Given the description of an element on the screen output the (x, y) to click on. 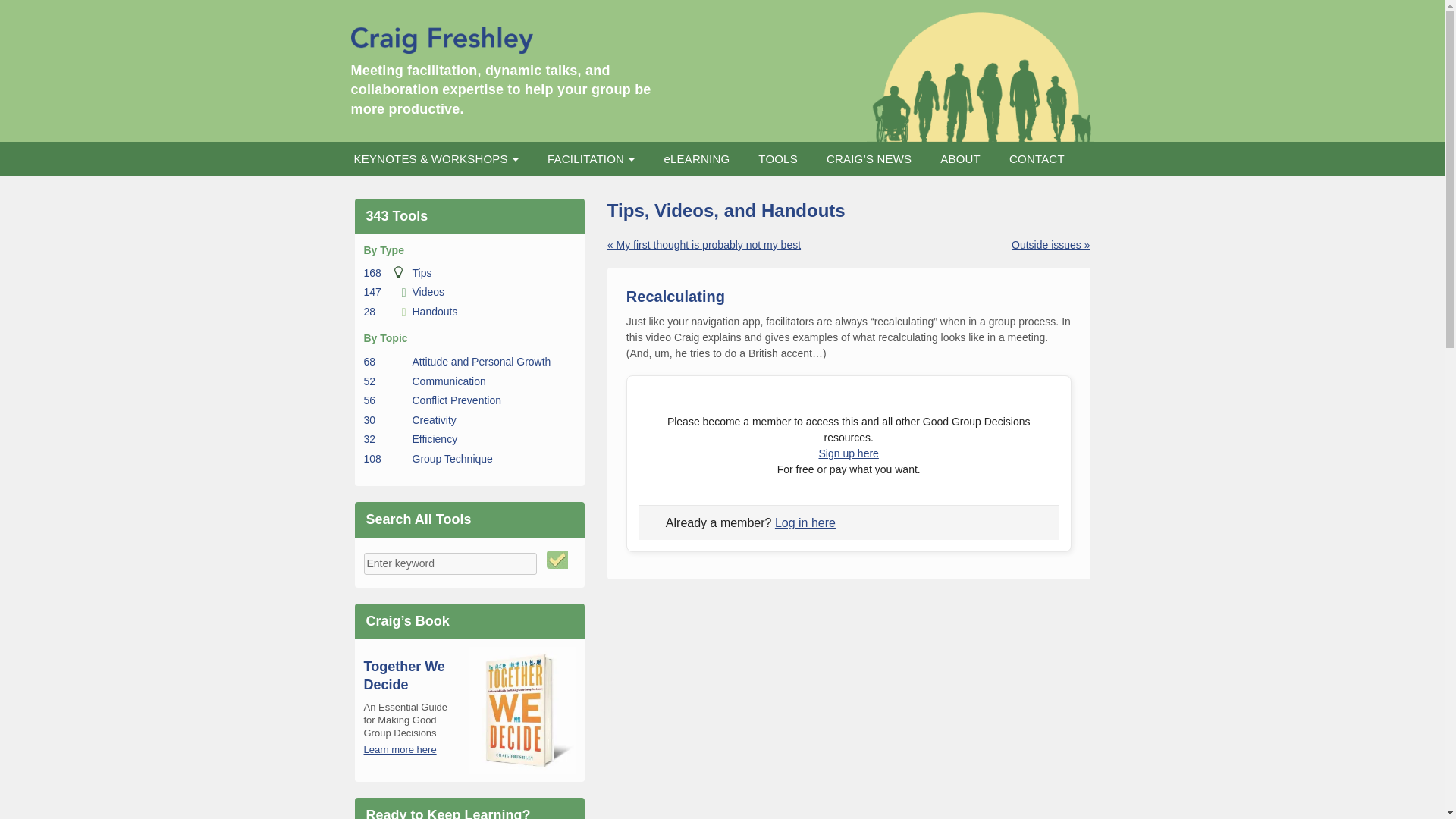
Log in here (804, 522)
Search (558, 559)
Learn more here (400, 749)
TOOLS (778, 158)
Search (558, 559)
Communication (435, 311)
Conflict Prevention (449, 381)
Learn more here (457, 399)
Efficiency (400, 749)
Tips, Videos, Handouts, Book (435, 439)
Who we are (778, 158)
Sign up here (960, 158)
